Given the description of an element on the screen output the (x, y) to click on. 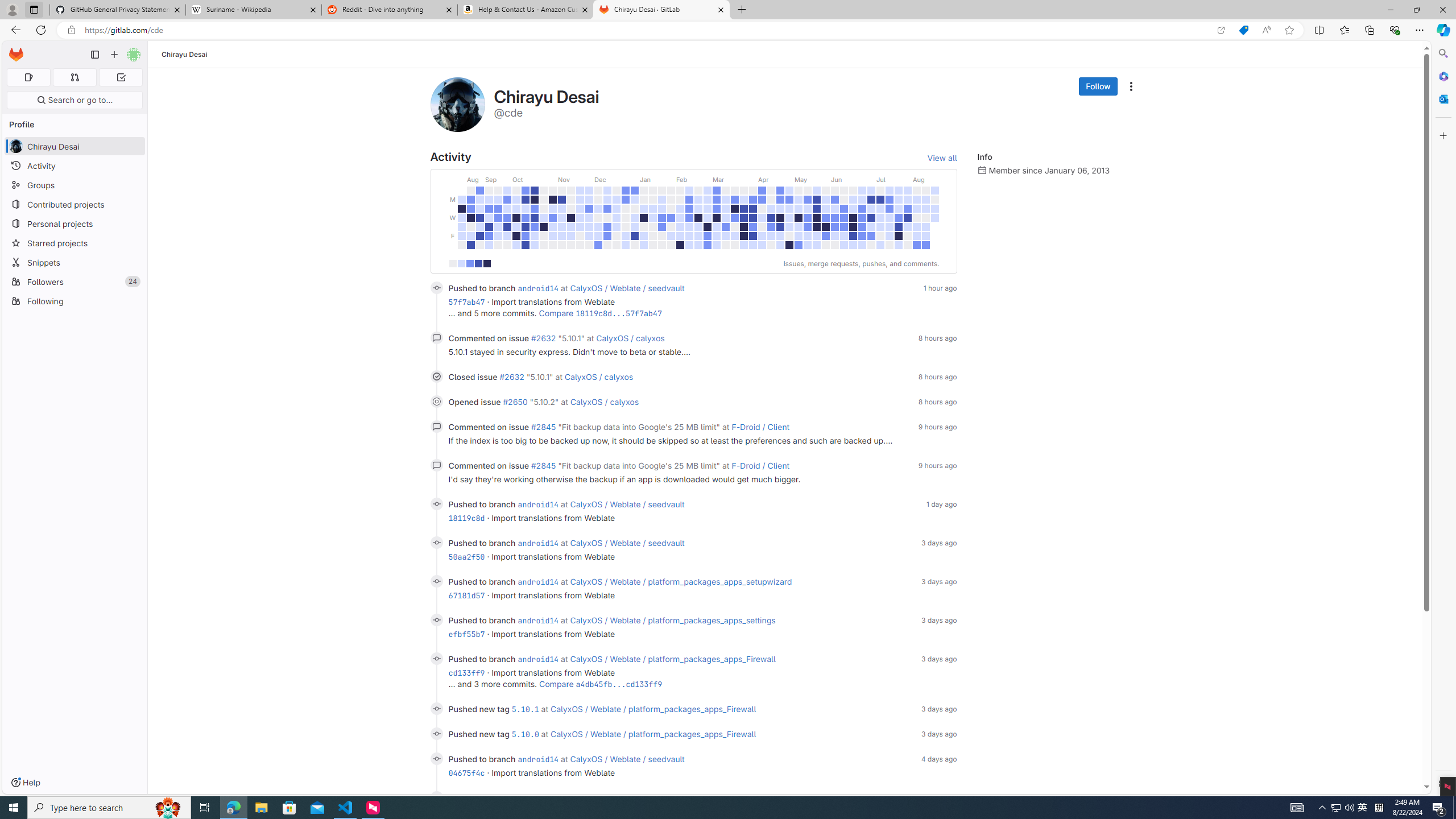
CalyxOS / calyxos (604, 402)
